Given the description of an element on the screen output the (x, y) to click on. 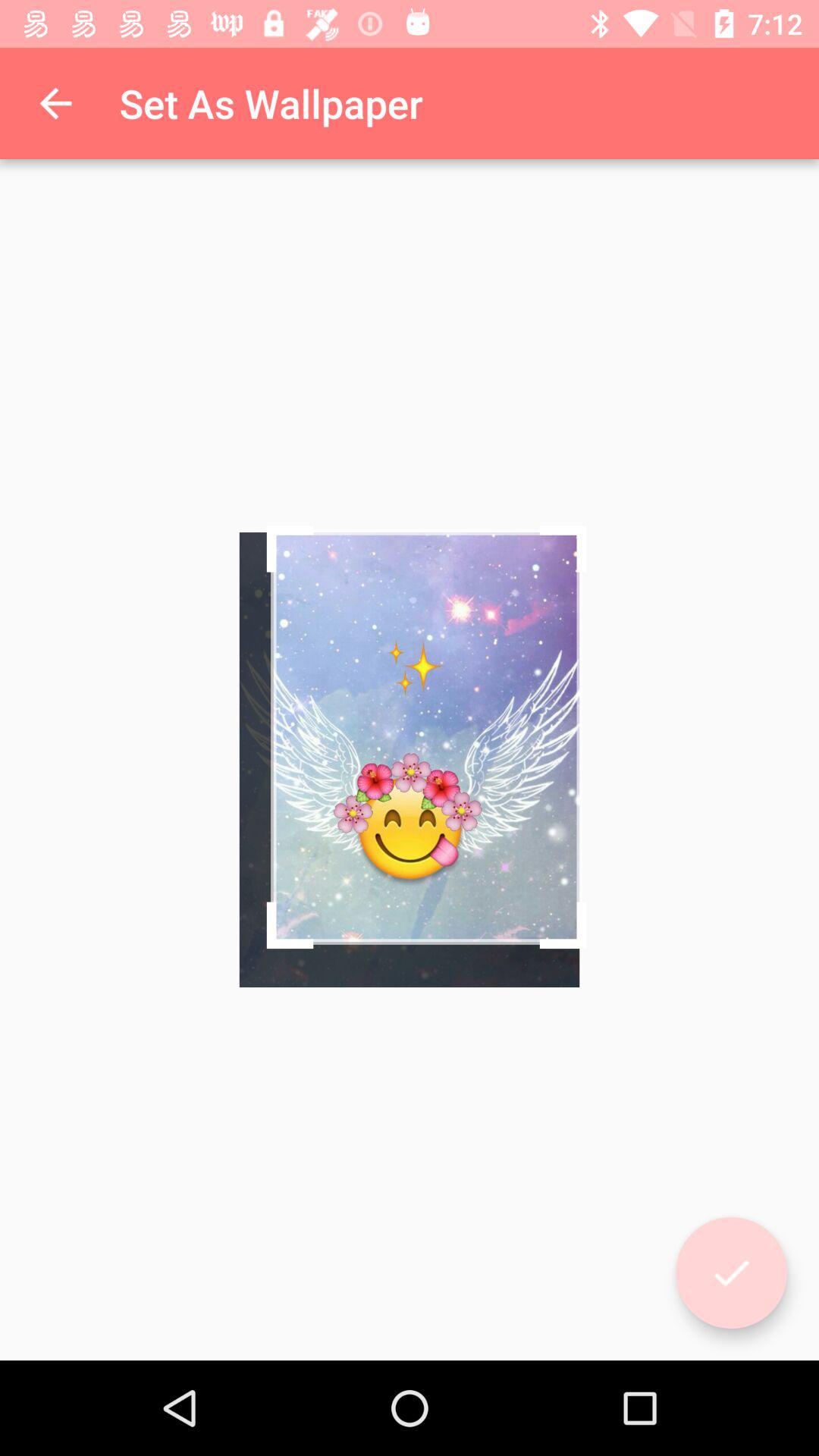
press the icon to the left of the set as wallpaper (55, 103)
